Given the description of an element on the screen output the (x, y) to click on. 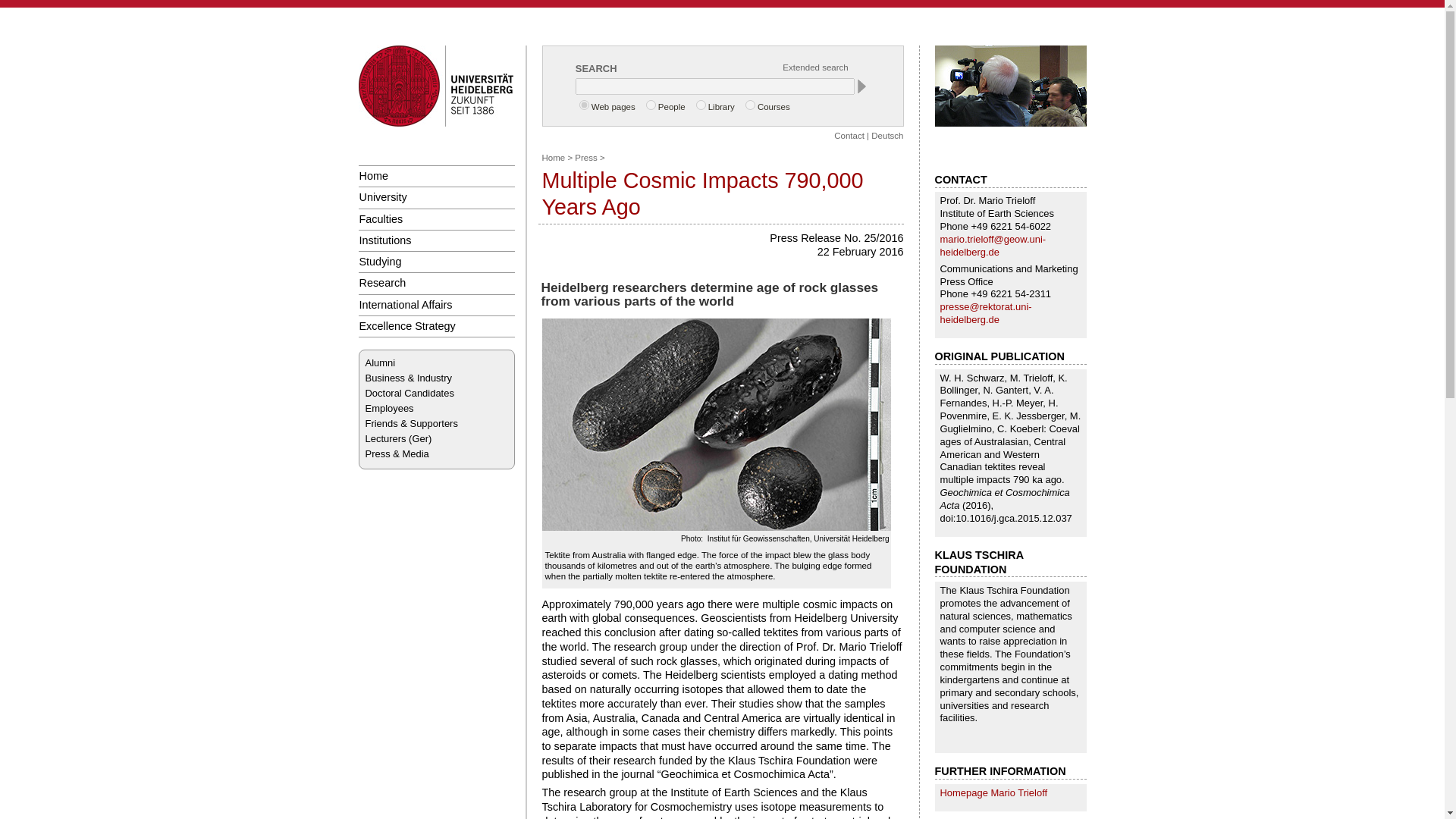
4 (750, 104)
Homepage Mario Trieloff (994, 792)
Deutsch (886, 135)
Home (435, 176)
2 (651, 104)
University (435, 197)
Employees (389, 408)
1 (584, 104)
Doctoral Candidates (409, 392)
Research (435, 282)
